Given the description of an element on the screen output the (x, y) to click on. 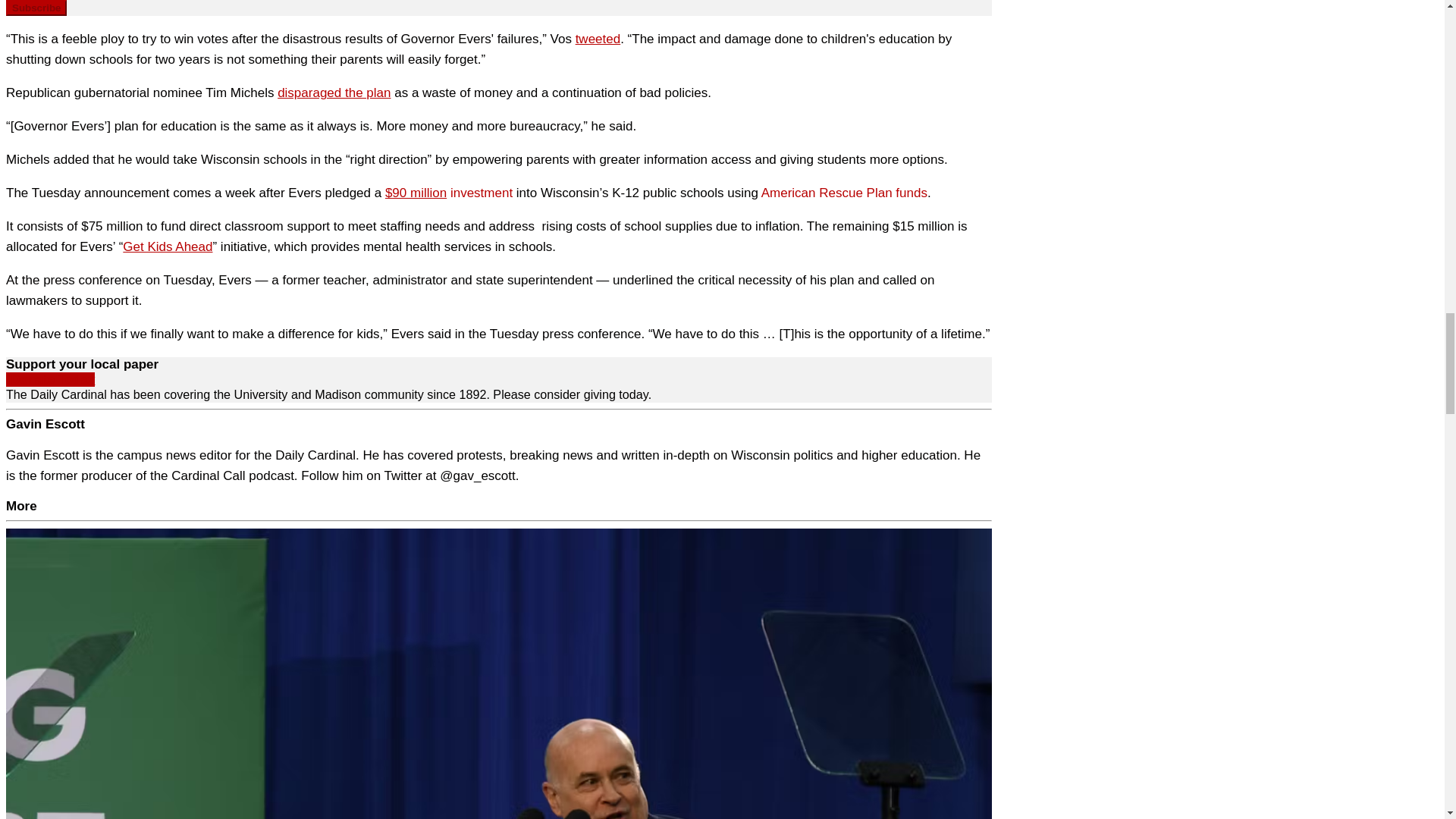
Subscribe (35, 7)
